Given the description of an element on the screen output the (x, y) to click on. 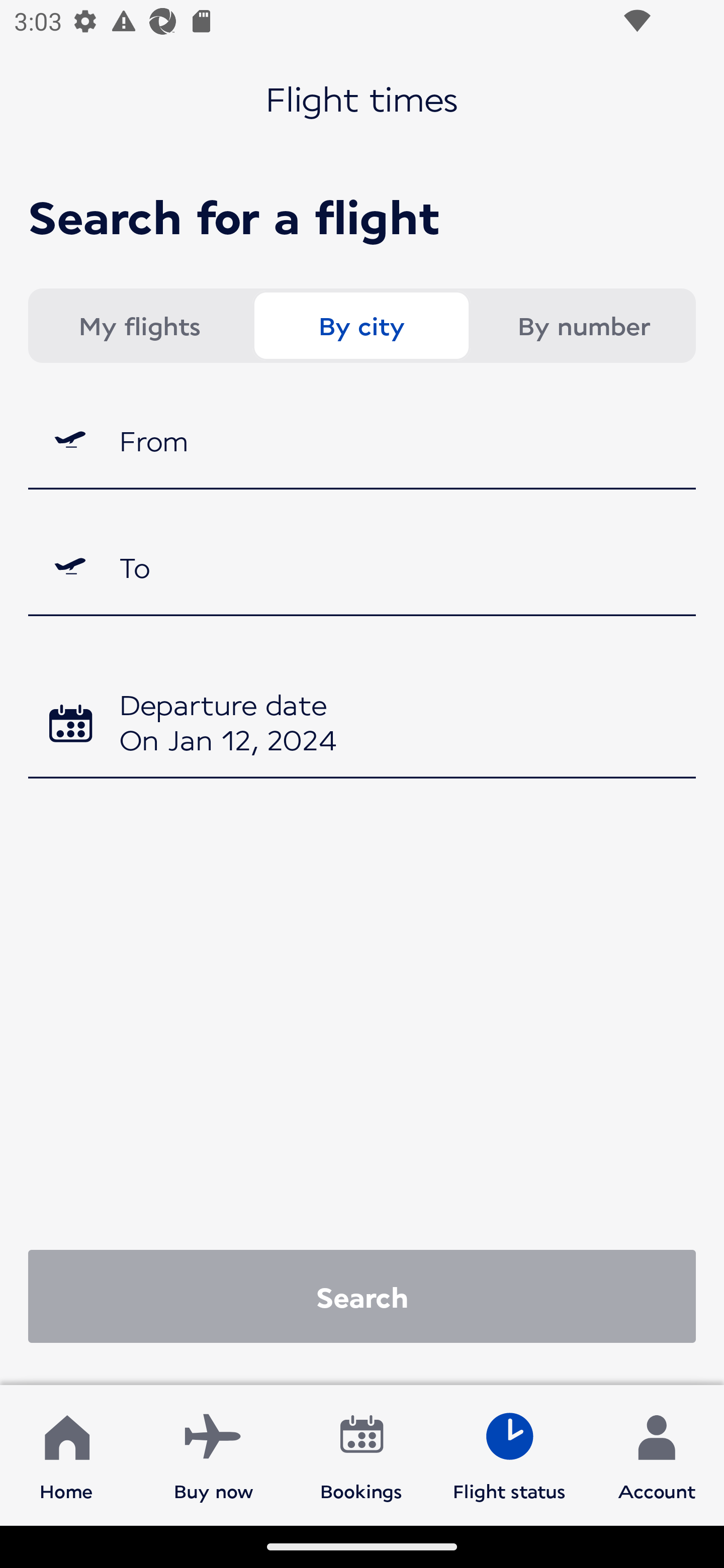
My flights (139, 325)
By city (361, 325)
By number (583, 325)
From (361, 439)
To (361, 566)
On Jan 12, 2024 Departure date (361, 724)
Search (361, 1295)
Home (66, 1454)
Buy now (213, 1454)
Bookings (361, 1454)
Account (657, 1454)
